Given the description of an element on the screen output the (x, y) to click on. 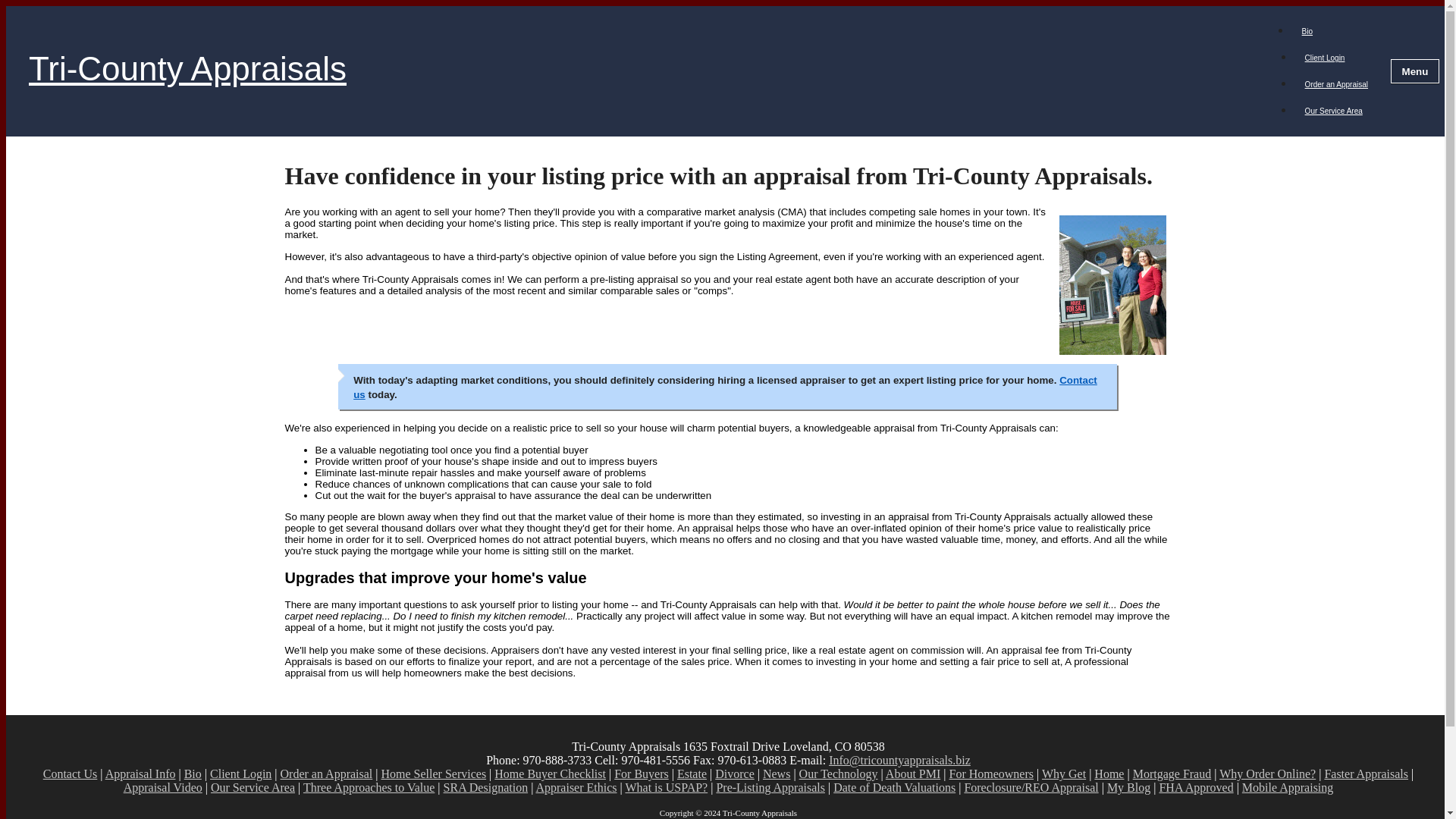
Contact us (725, 387)
Client Login (1325, 57)
Tri-County Appraisals (644, 71)
Bio (1306, 31)
Menu (1414, 70)
Order an Appraisal (1336, 83)
Our Service Area (1334, 110)
